Given the description of an element on the screen output the (x, y) to click on. 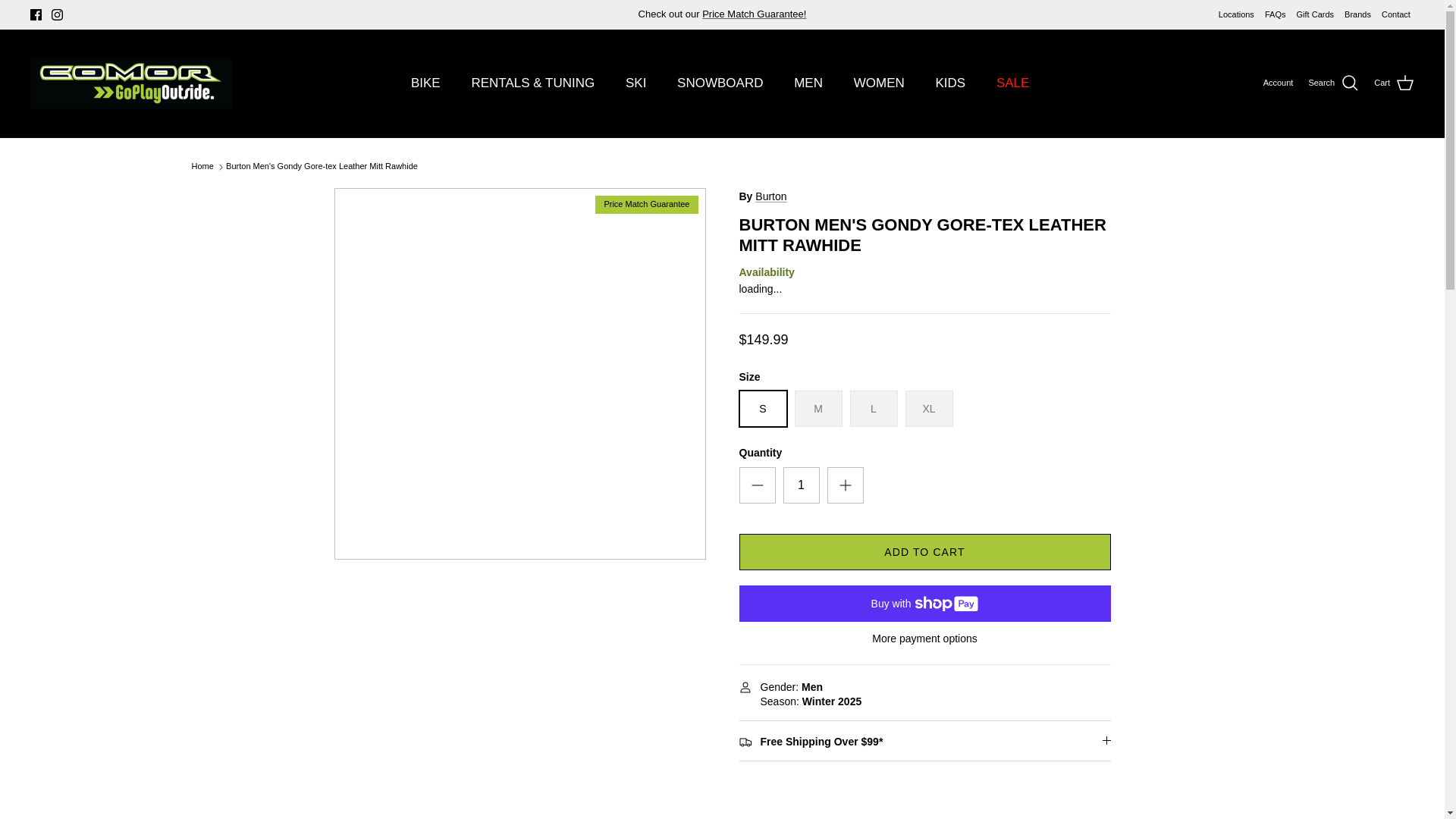
Instagram (56, 14)
SALE (1012, 82)
BIKE (425, 82)
Cart (1393, 83)
Facebook (36, 14)
Price Match Guarantee! (753, 13)
MEN (807, 82)
1 (800, 484)
WOMEN (879, 82)
Price Match Guarantee (753, 13)
